Given the description of an element on the screen output the (x, y) to click on. 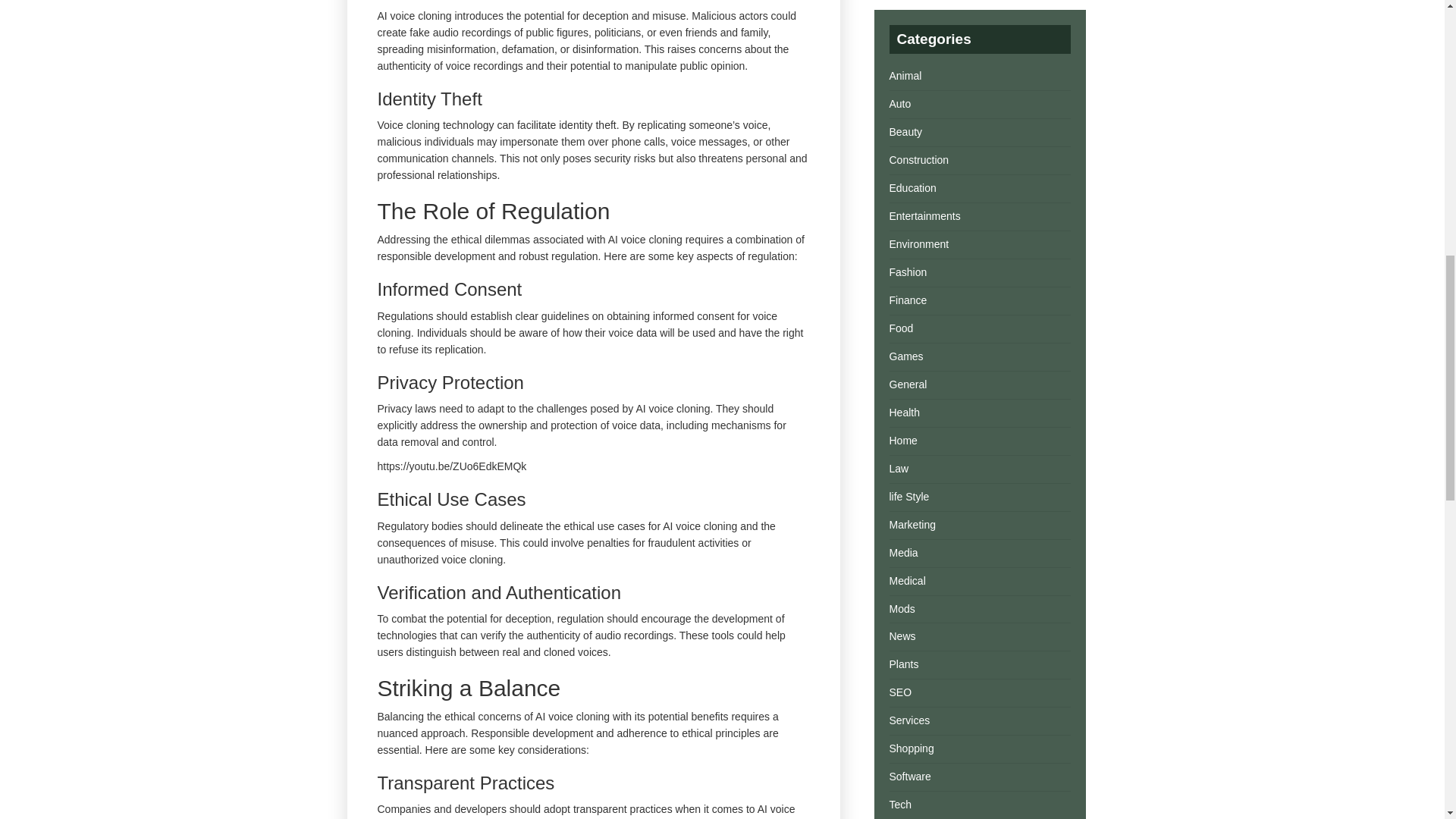
Beauty (904, 132)
Education (912, 187)
Games (905, 356)
Environment (918, 244)
Auto (899, 103)
General (907, 384)
Entertainments (923, 215)
Animal (904, 75)
Fashion (907, 272)
Finance (907, 300)
